Given the description of an element on the screen output the (x, y) to click on. 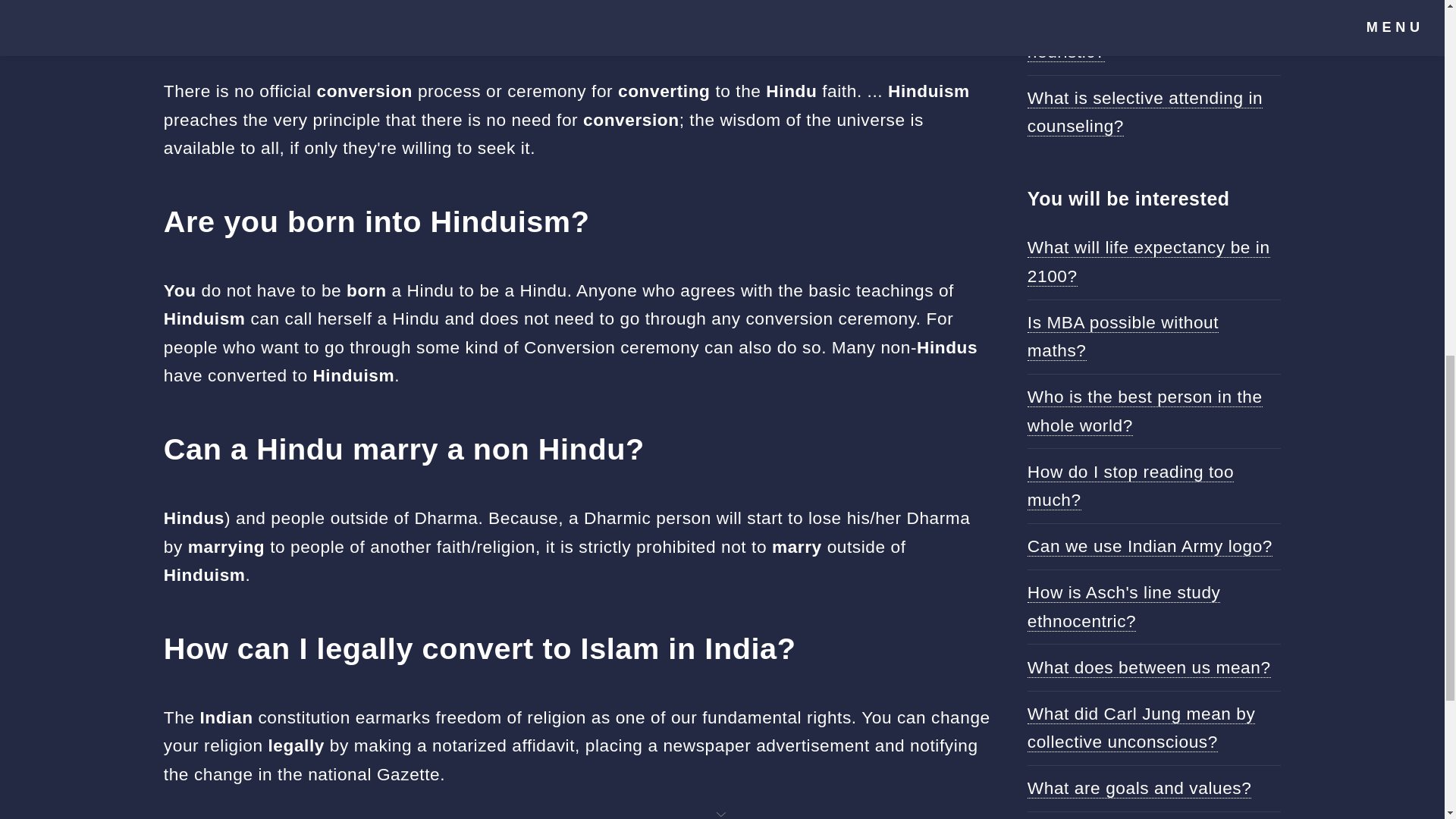
What will life expectancy be in 2100? (1148, 261)
How do I stop reading too much? (1130, 485)
Is MBA possible without maths? (1122, 336)
What does between us mean? (1149, 667)
What are goals and values? (1139, 788)
Who is the best person in the whole world? (1144, 410)
How is Asch's line study ethnocentric? (1124, 606)
When would you use a heuristic? (1118, 37)
What is selective attending in counseling? (1144, 111)
Can we use Indian Army logo? (1149, 546)
What did Carl Jung mean by collective unconscious? (1141, 727)
